Given the description of an element on the screen output the (x, y) to click on. 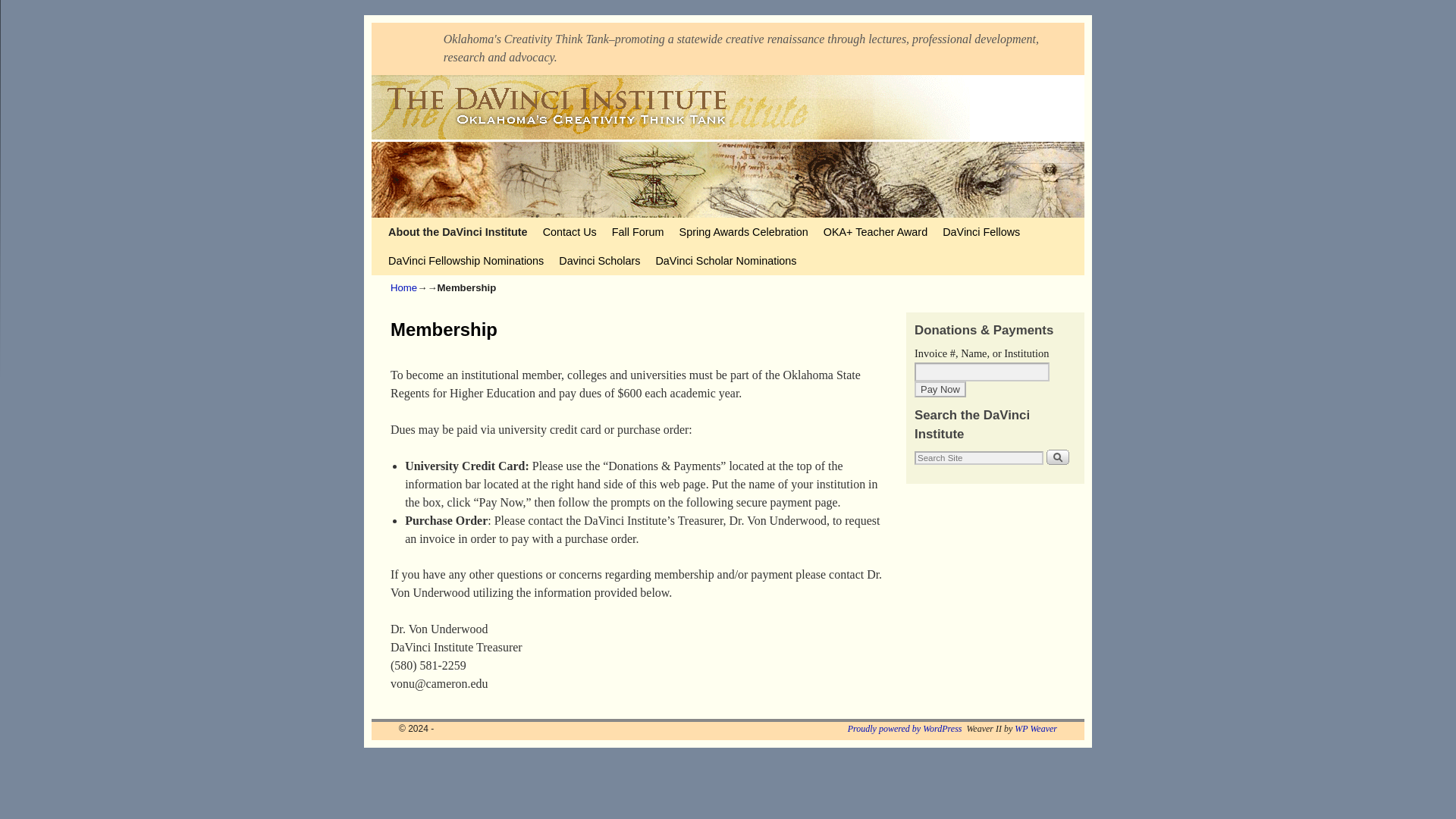
Skip to secondary content (418, 223)
wordpress.org (904, 728)
Contact Us (569, 231)
DaVinci Fellows (980, 231)
WP Weaver (1035, 728)
Proudly powered by WordPress (904, 728)
About the DaVinci Institute (457, 231)
Pay Now (940, 389)
Davinci Scholars (599, 260)
Home (403, 287)
